Given the description of an element on the screen output the (x, y) to click on. 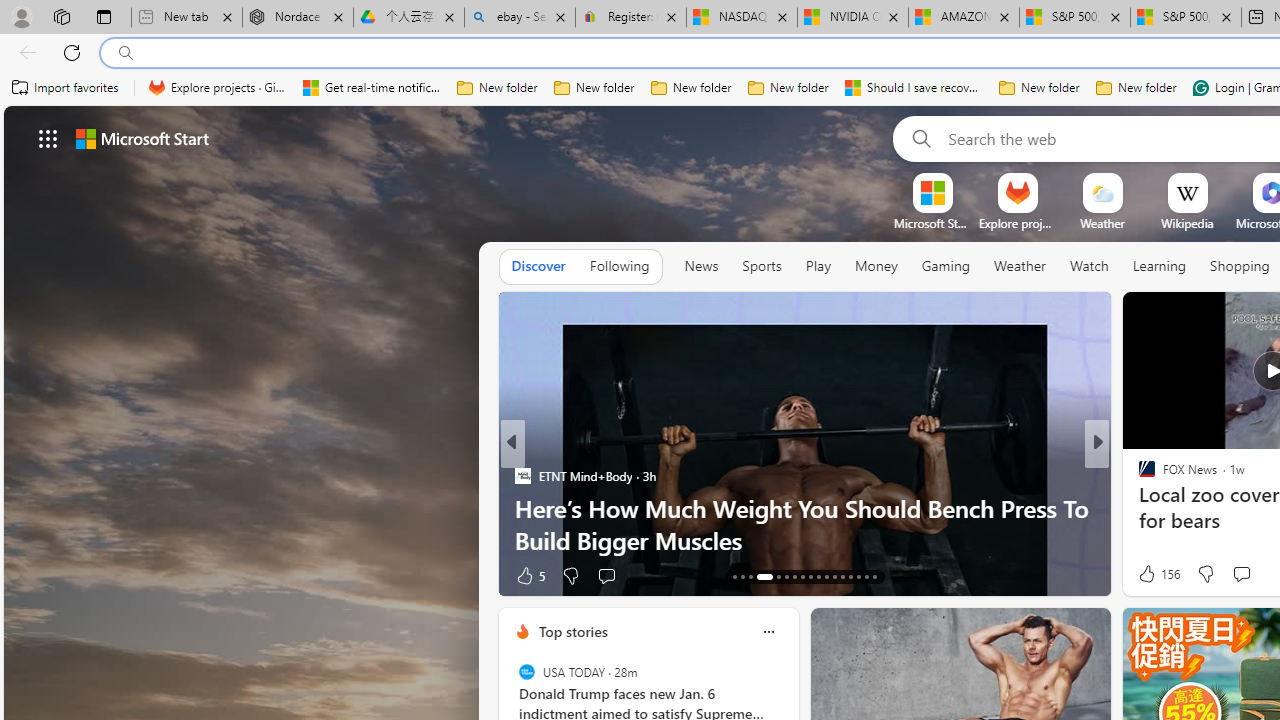
AutomationID: tab-29 (874, 576)
12 Like (1149, 574)
AutomationID: tab-22 (818, 576)
Search icon (125, 53)
Class: control (47, 138)
S&P 500, Nasdaq end lower, weighed by Nvidia dip | Watch (1186, 17)
AutomationID: tab-26 (850, 576)
View comments 117 Comment (1240, 574)
Shopping (1240, 265)
LeagueFeed (1138, 507)
